Given the description of an element on the screen output the (x, y) to click on. 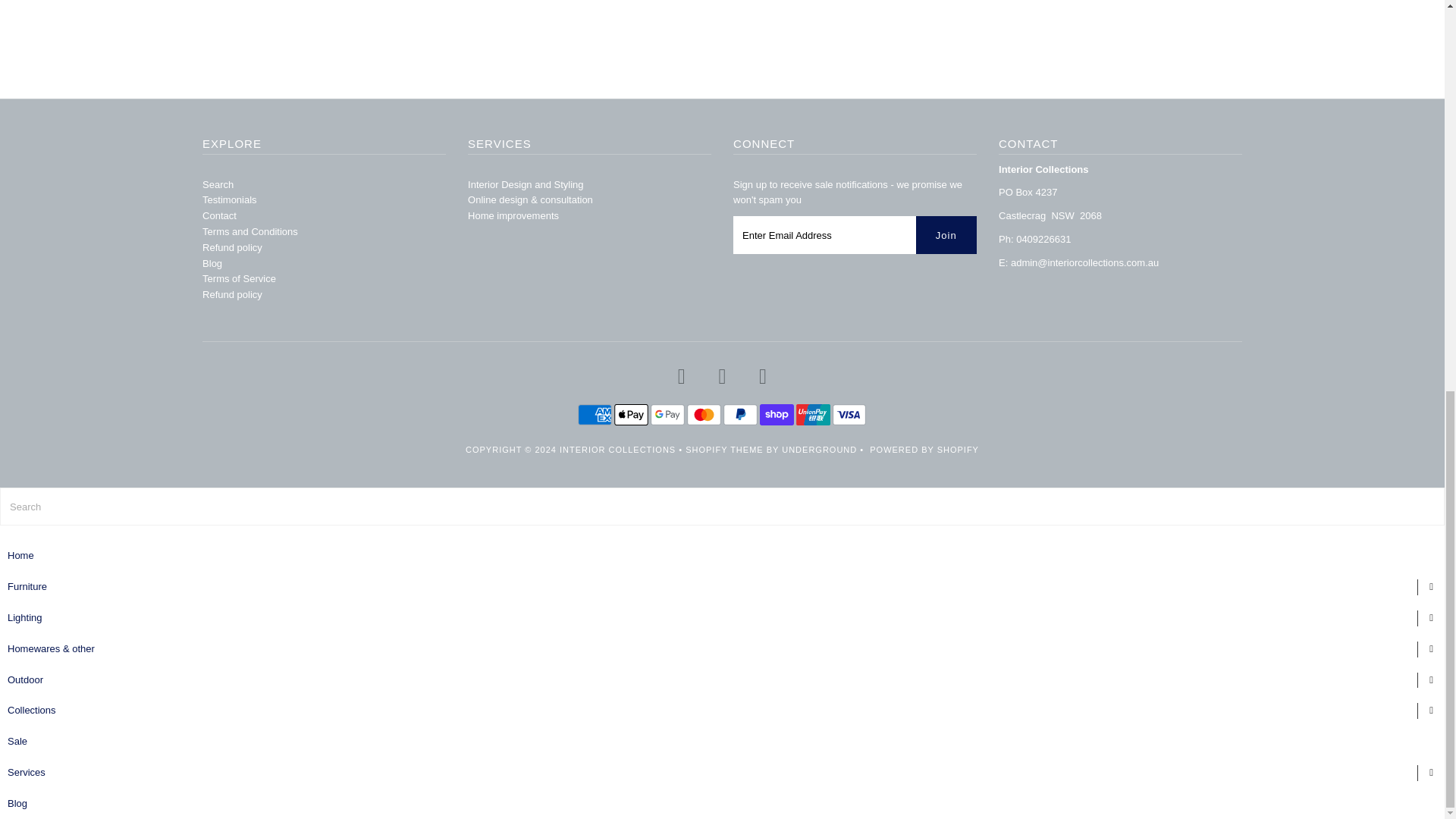
Join (945, 234)
